Given the description of an element on the screen output the (x, y) to click on. 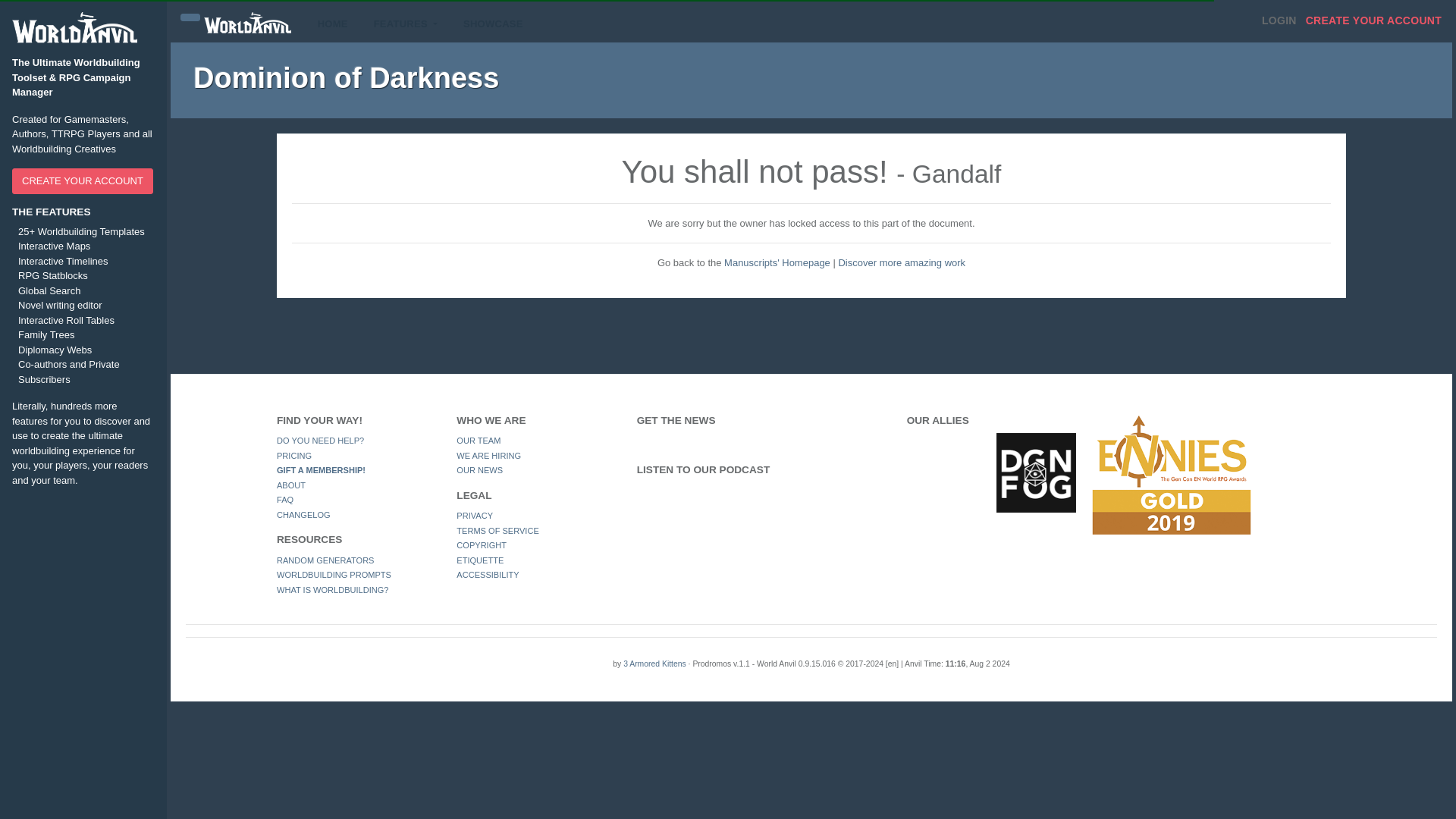
HOME (332, 23)
CHANGELOG (303, 514)
Check out some of the BEST work of our community! (492, 23)
ABOUT (290, 484)
Discover more amazing work (901, 262)
FEATURES (405, 23)
DO YOU NEED HELP? (320, 440)
We won the Gold Ennie 2019 for Best Digital Aid (1170, 474)
GIFT A MEMBERSHIP! (320, 470)
PRICING (293, 455)
SHOWCASE (492, 23)
FAQ (285, 499)
CREATE YOUR ACCOUNT (81, 181)
RANDOM GENERATORS (325, 560)
Manuscripts' Homepage (776, 262)
